Given the description of an element on the screen output the (x, y) to click on. 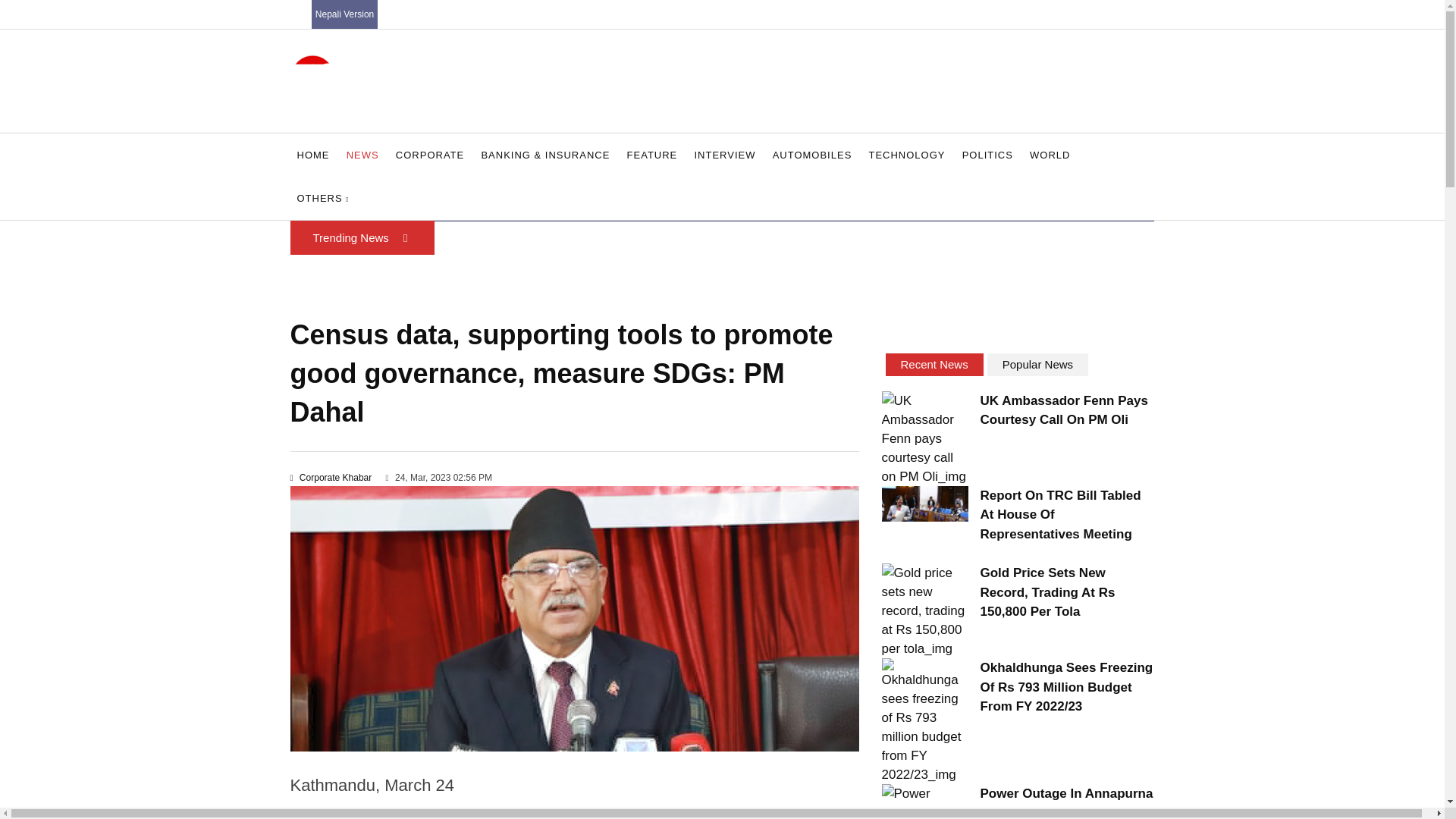
Home (312, 154)
Interview (724, 154)
Recent News (934, 363)
INTERVIEW (724, 154)
WORLD (1050, 154)
World (1050, 154)
NEWS (362, 154)
Corporate (429, 154)
Automobiles (812, 154)
HOME (312, 154)
